Given the description of an element on the screen output the (x, y) to click on. 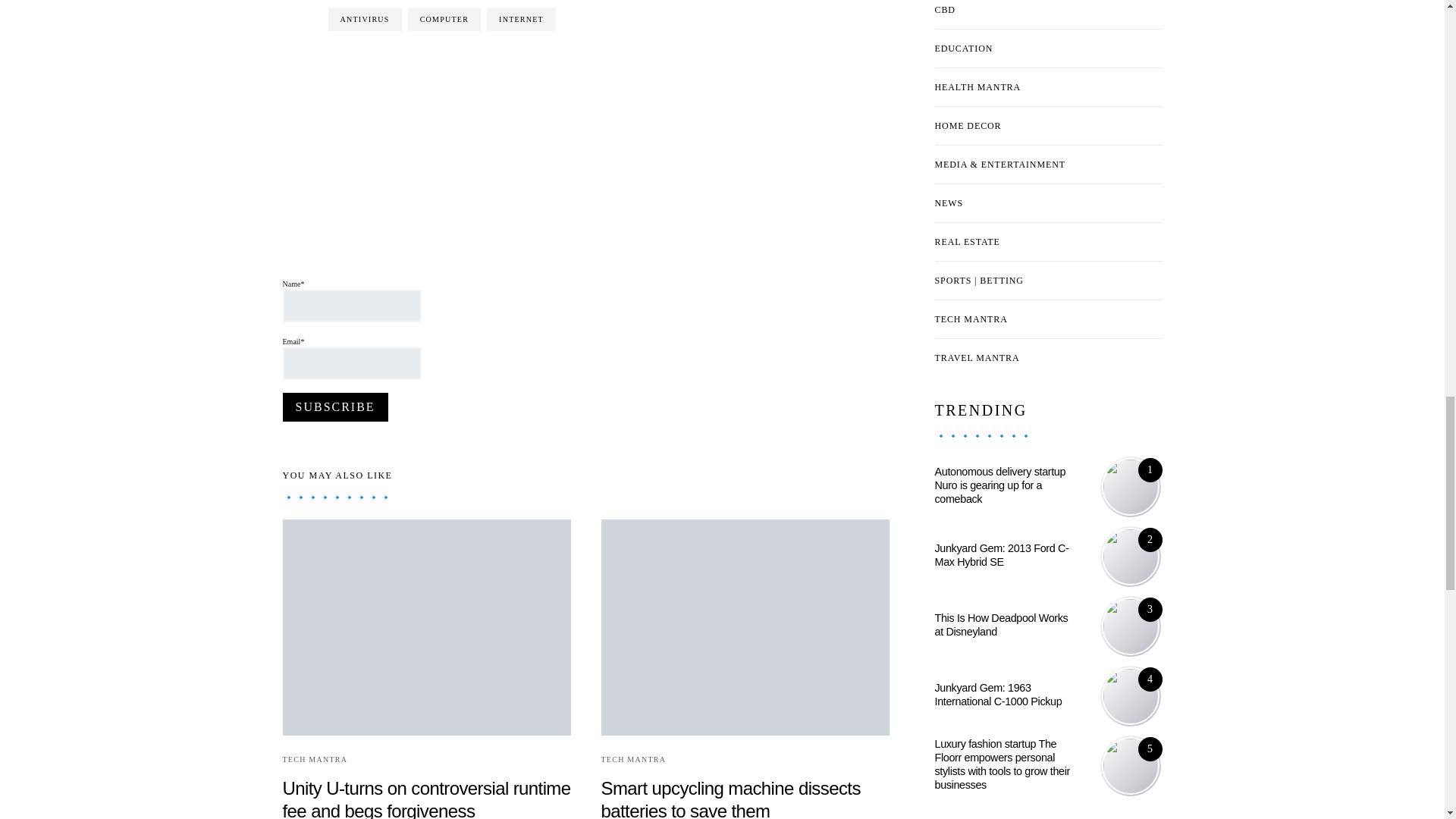
Advertisement (558, 202)
Subscribe (334, 407)
